Given the description of an element on the screen output the (x, y) to click on. 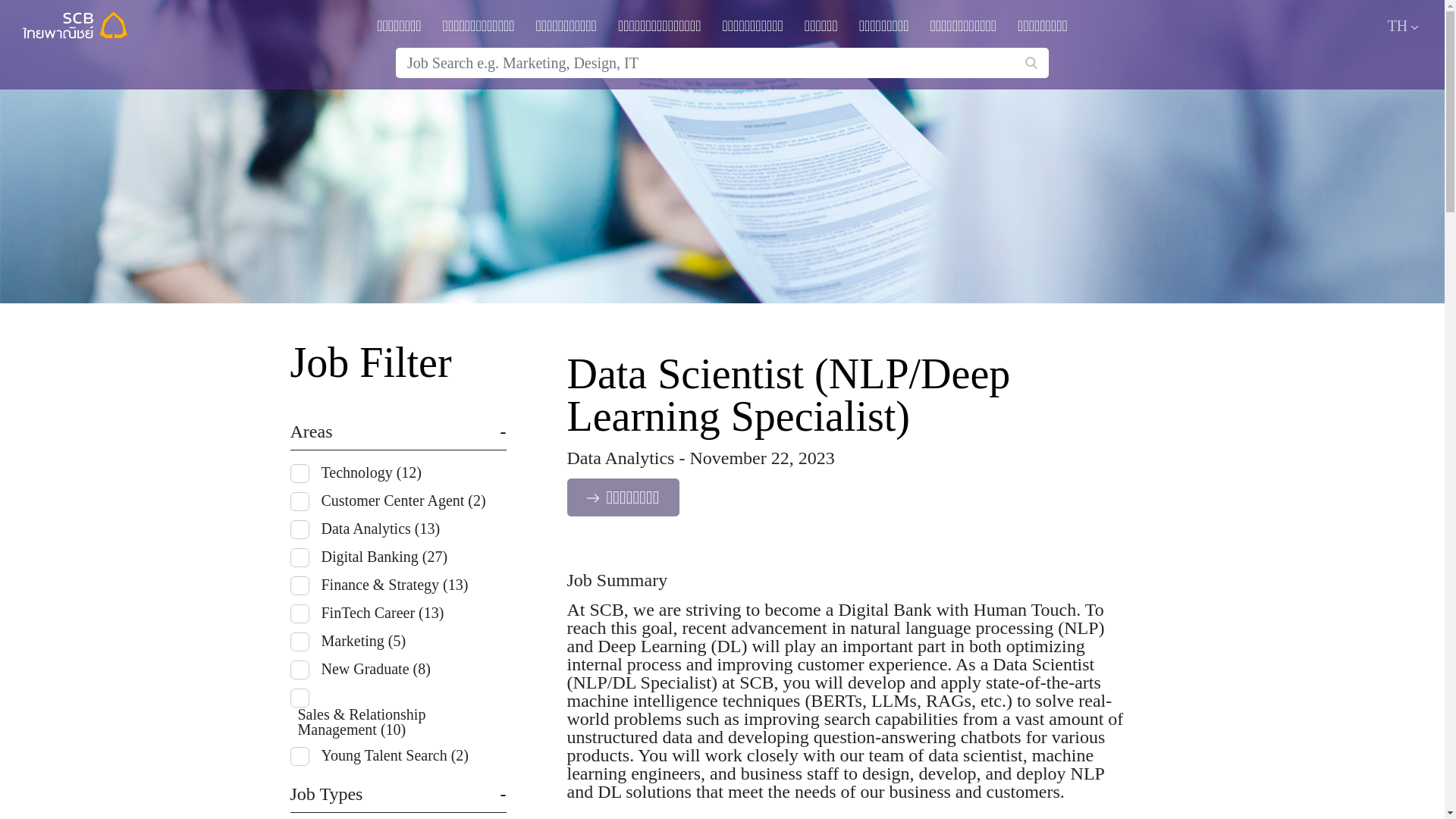
TH (1403, 27)
